Given the description of an element on the screen output the (x, y) to click on. 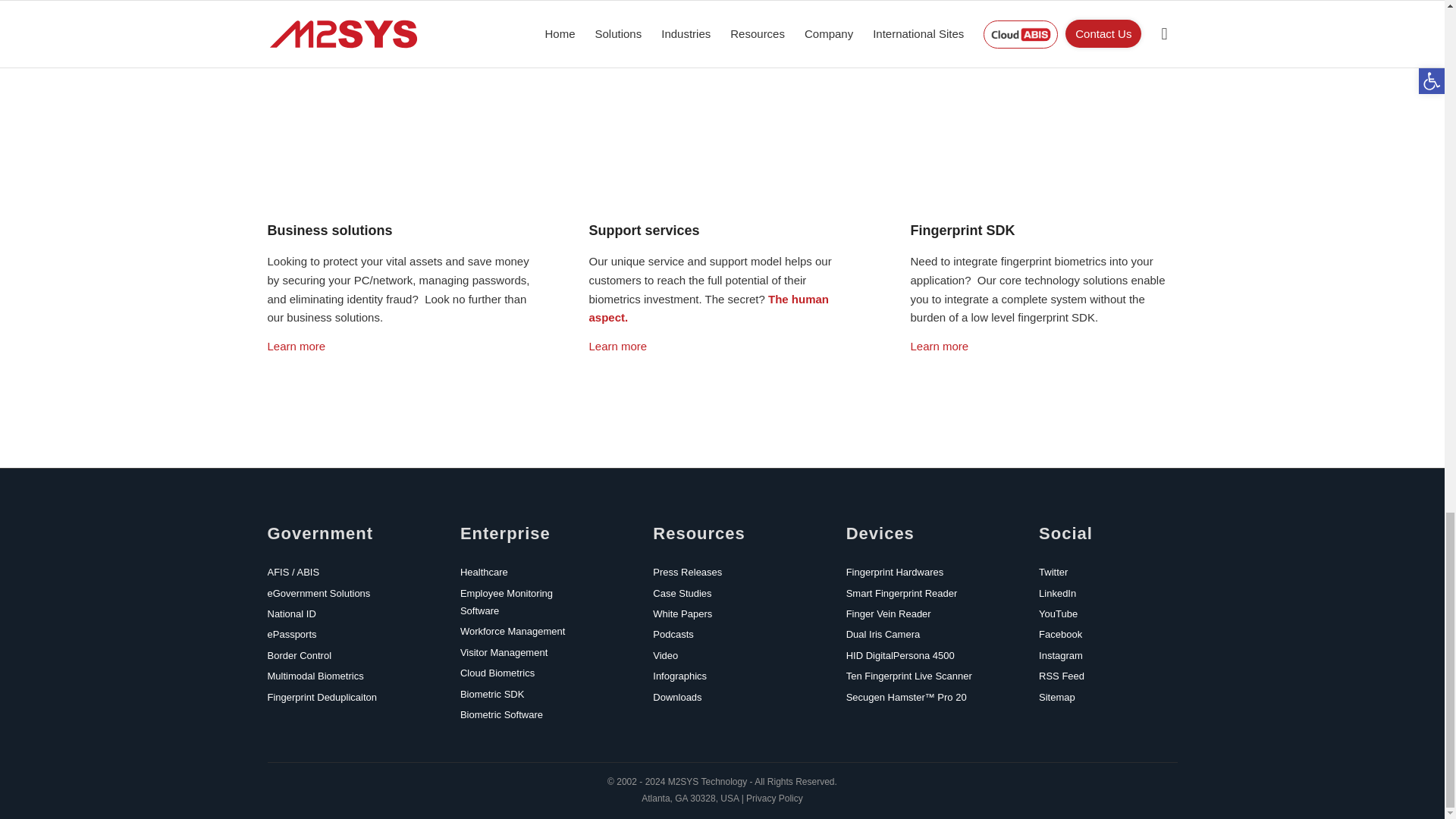
eGovernment Solutions (320, 593)
support-services (722, 104)
fingerprint-software-development-kit-sdk (1043, 104)
M2SYS biometric solutions (400, 104)
